Given the description of an element on the screen output the (x, y) to click on. 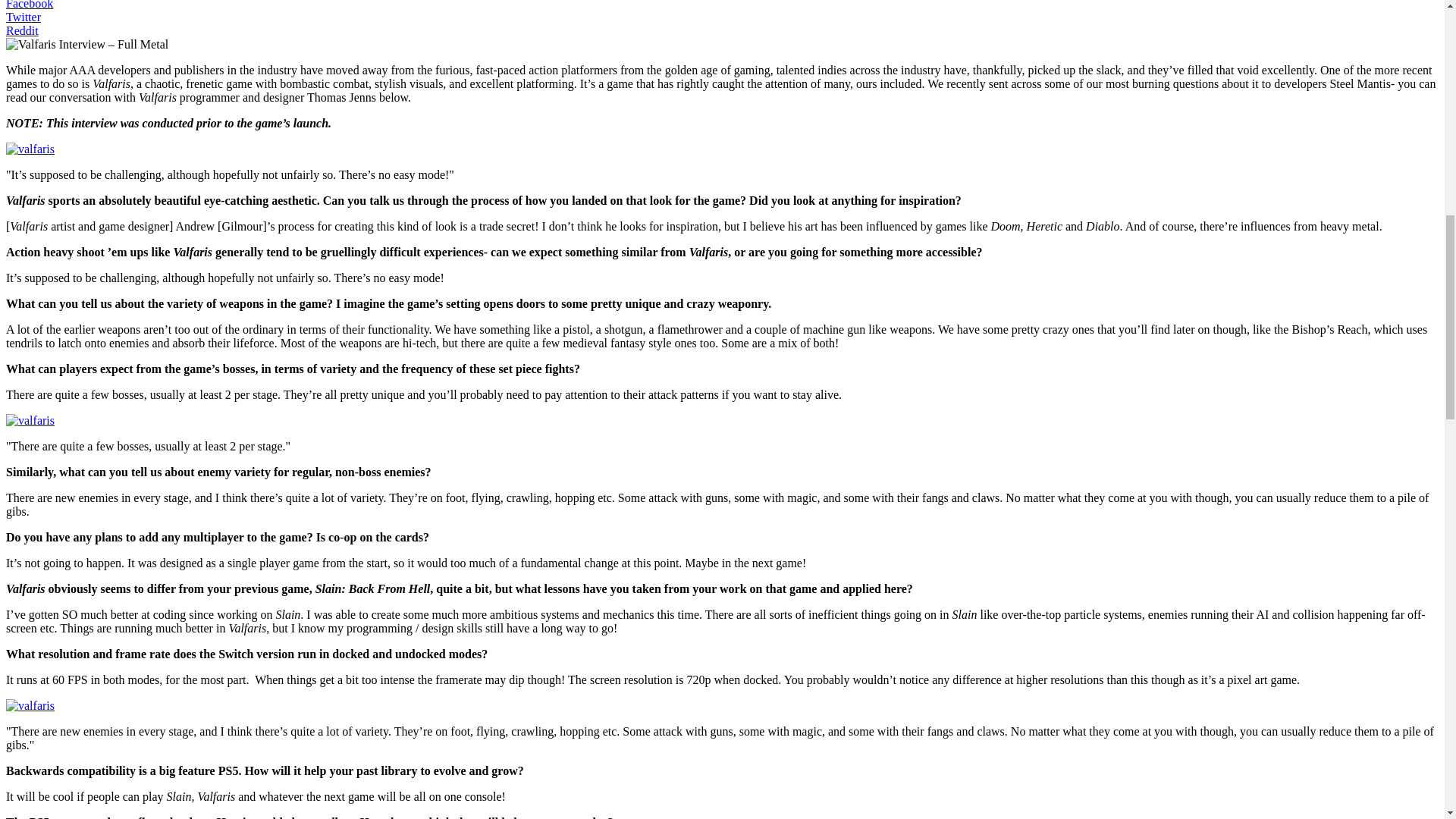
Reddit (22, 30)
Twitter (22, 16)
Facebook (28, 4)
